Given the description of an element on the screen output the (x, y) to click on. 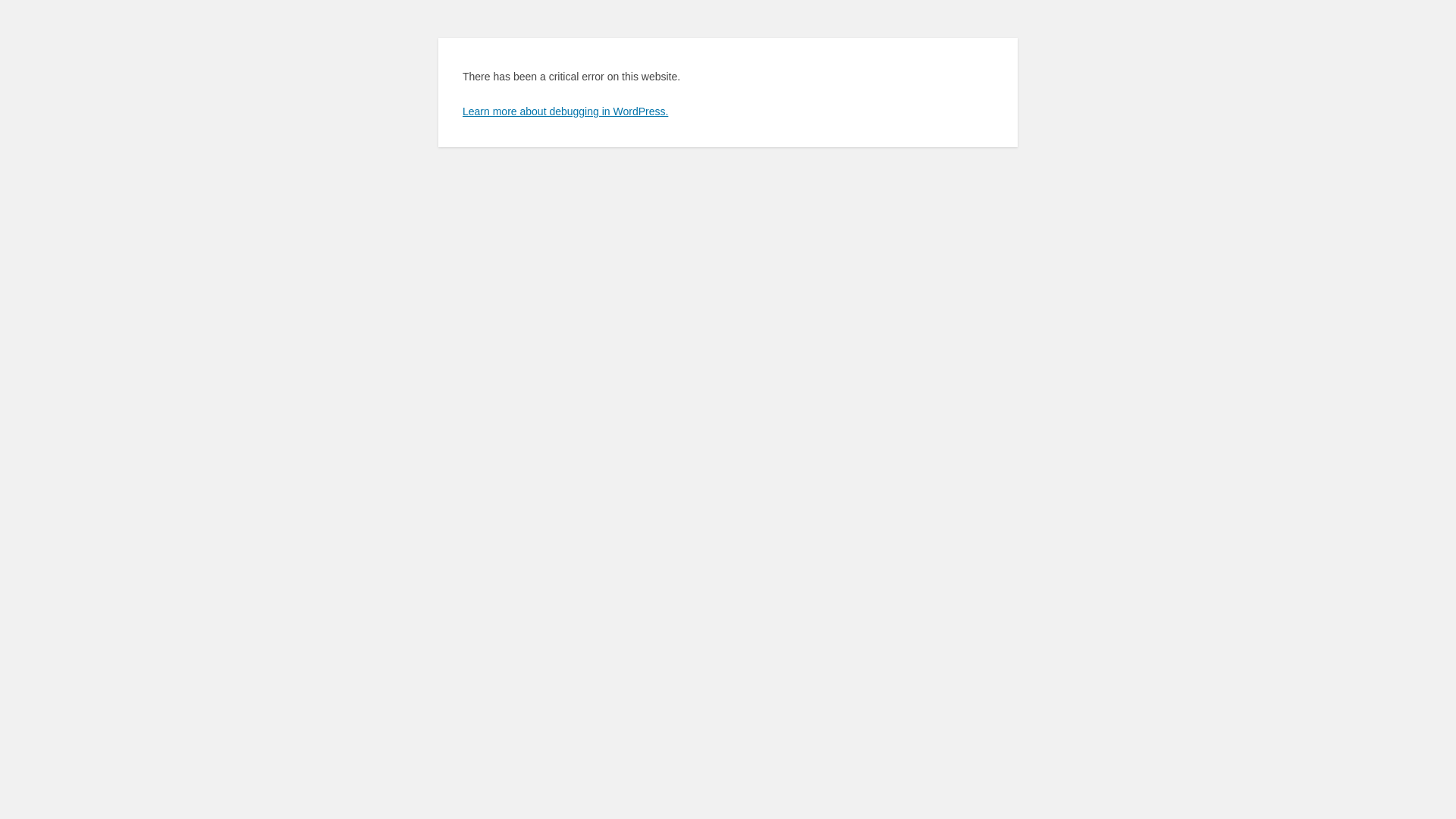
Learn more about debugging in WordPress. Element type: text (565, 111)
